Given the description of an element on the screen output the (x, y) to click on. 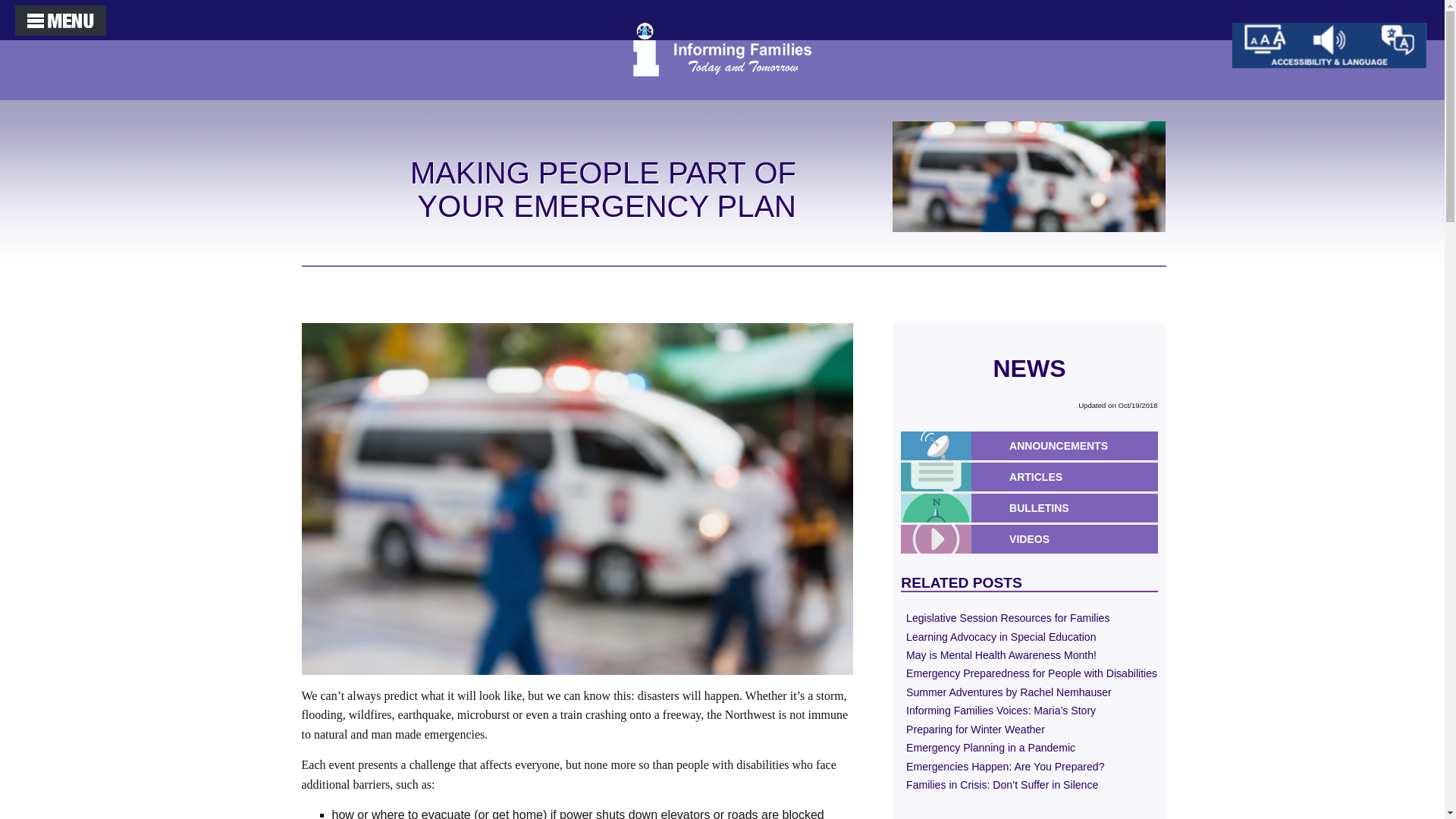
Emergencies Happen: Are You Prepared? (1029, 768)
Learning Advocacy in Special Education  (1029, 638)
May is Mental Health Awareness Month! (1029, 656)
Legislative Session Resources for Families (1029, 619)
Emergency Planning in a Pandemic (1029, 749)
BULLETINS (1075, 506)
ARTICLES (1075, 475)
Summer Adventures by Rachel Nemhauser (1029, 693)
NEWS (1028, 368)
Preparing for Winter Weather (1029, 730)
VIDEOS (1075, 538)
Emergency Preparedness for People with Disabilities (1029, 674)
ANNOUNCEMENTS (1075, 444)
